Given the description of an element on the screen output the (x, y) to click on. 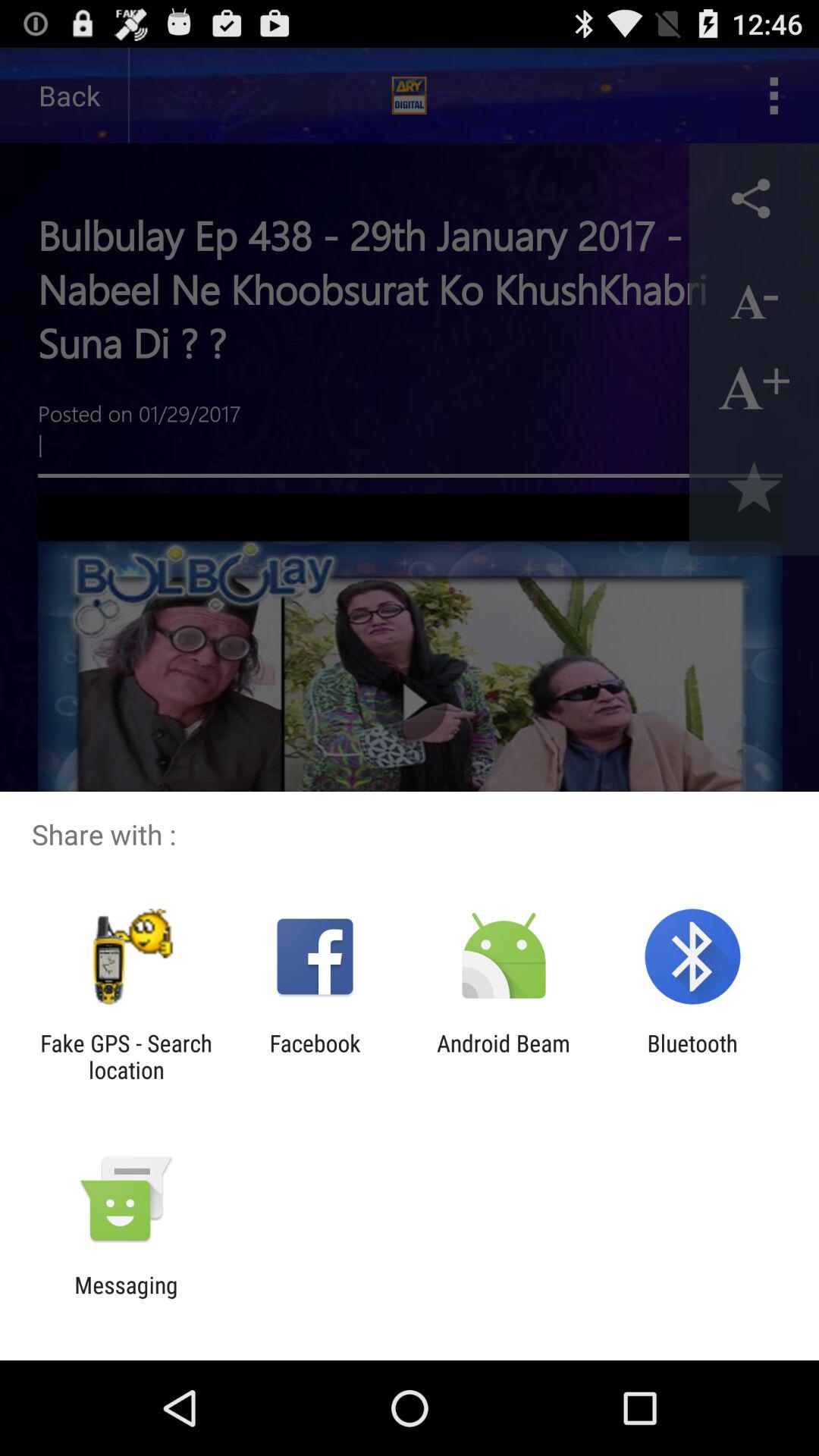
choose item to the left of the facebook icon (125, 1056)
